Given the description of an element on the screen output the (x, y) to click on. 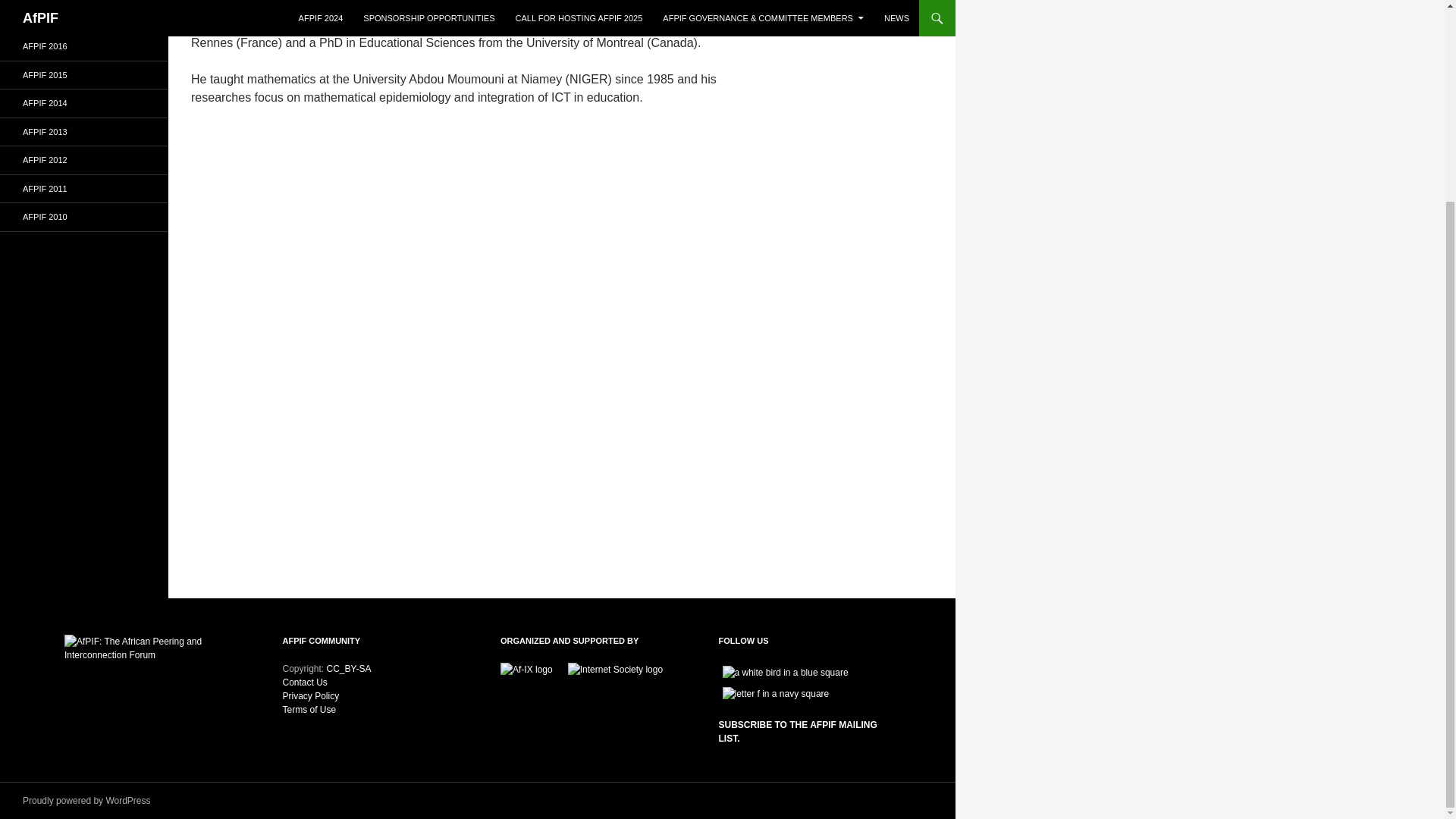
Terms of Use (309, 709)
AFPIF 2010 (84, 216)
AFPIF 2015 (84, 75)
AFPIF 2011 (84, 189)
AFPIF 2012 (84, 160)
Contact Us (304, 682)
AFPIF 2017 (84, 17)
AFPIF 2016 (84, 46)
AFPIF 2013 (84, 131)
Privacy Policy (310, 696)
